Given the description of an element on the screen output the (x, y) to click on. 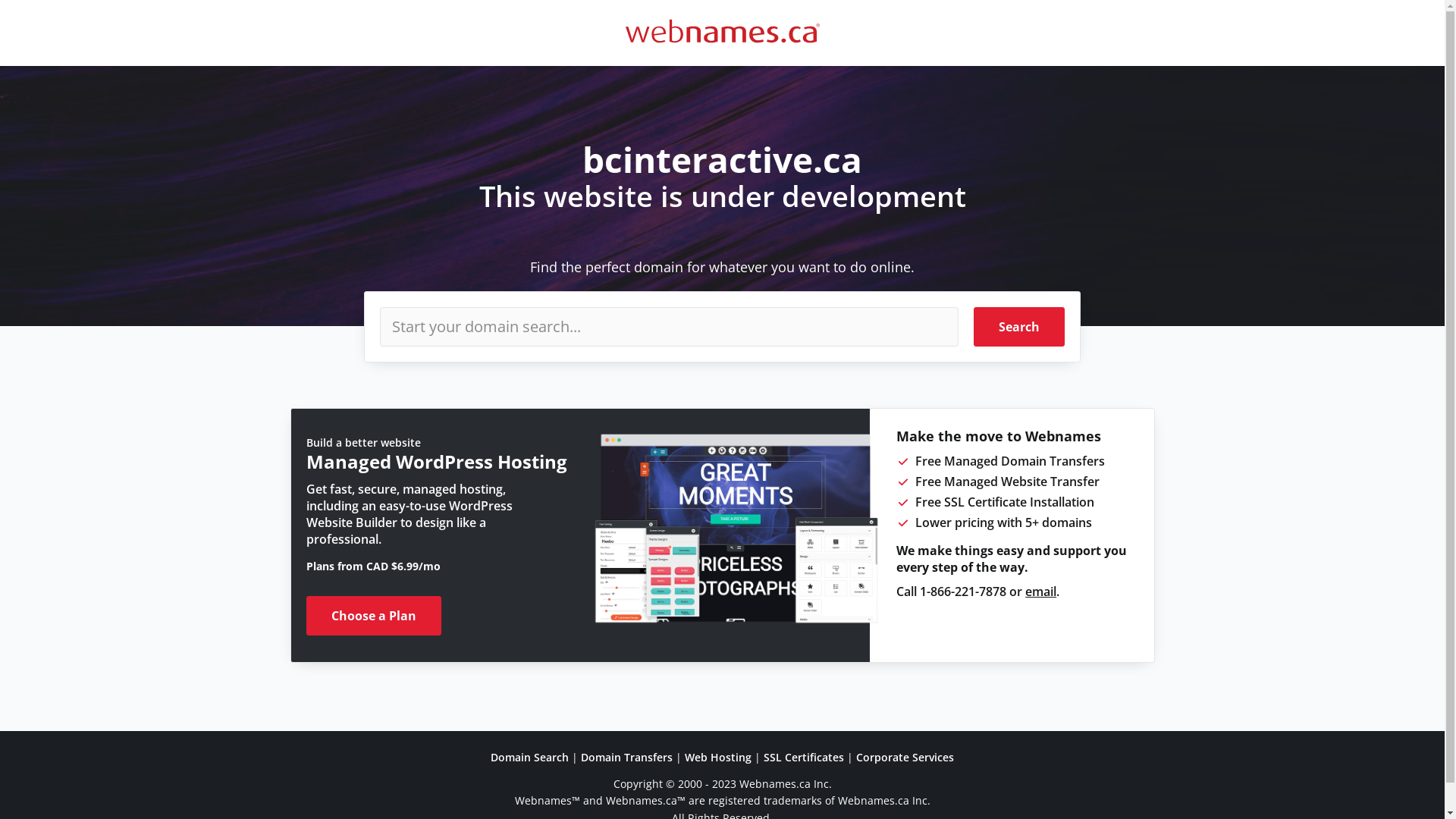
Corporate Services Element type: text (904, 756)
Domain Transfers Element type: text (626, 756)
Choose a Plan Element type: text (373, 615)
email Element type: text (1040, 591)
Search Element type: text (1018, 326)
Domain Search Element type: text (529, 756)
1-866-221-7878 Element type: text (962, 591)
SSL Certificates Element type: text (803, 756)
Web Hosting Element type: text (717, 756)
